Given the description of an element on the screen output the (x, y) to click on. 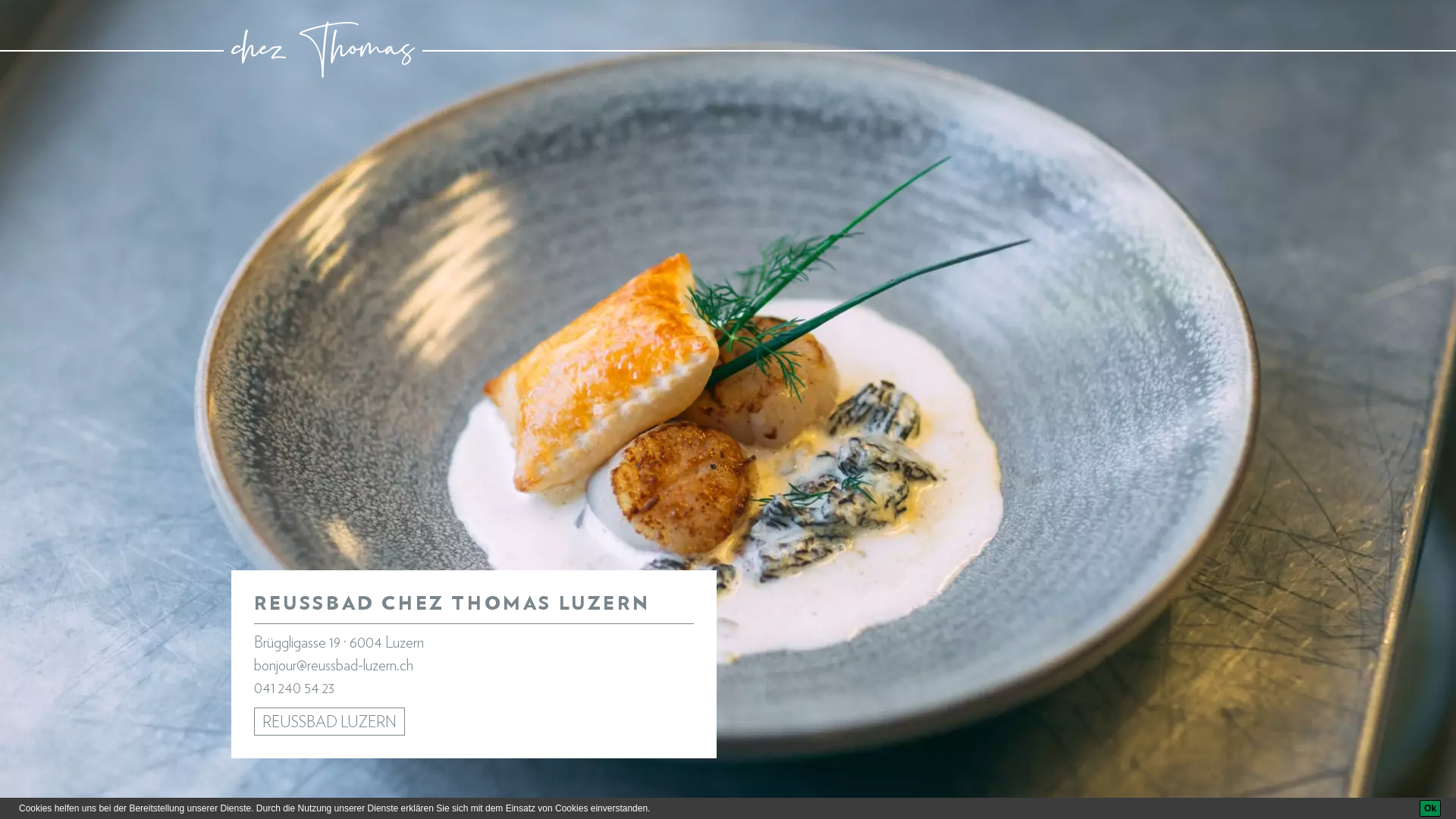
bonjour@reussbad-luzern.ch Element type: text (333, 665)
041 240 54 23 Element type: text (294, 688)
REUSSBAD LUZERN Element type: text (329, 721)
